Given the description of an element on the screen output the (x, y) to click on. 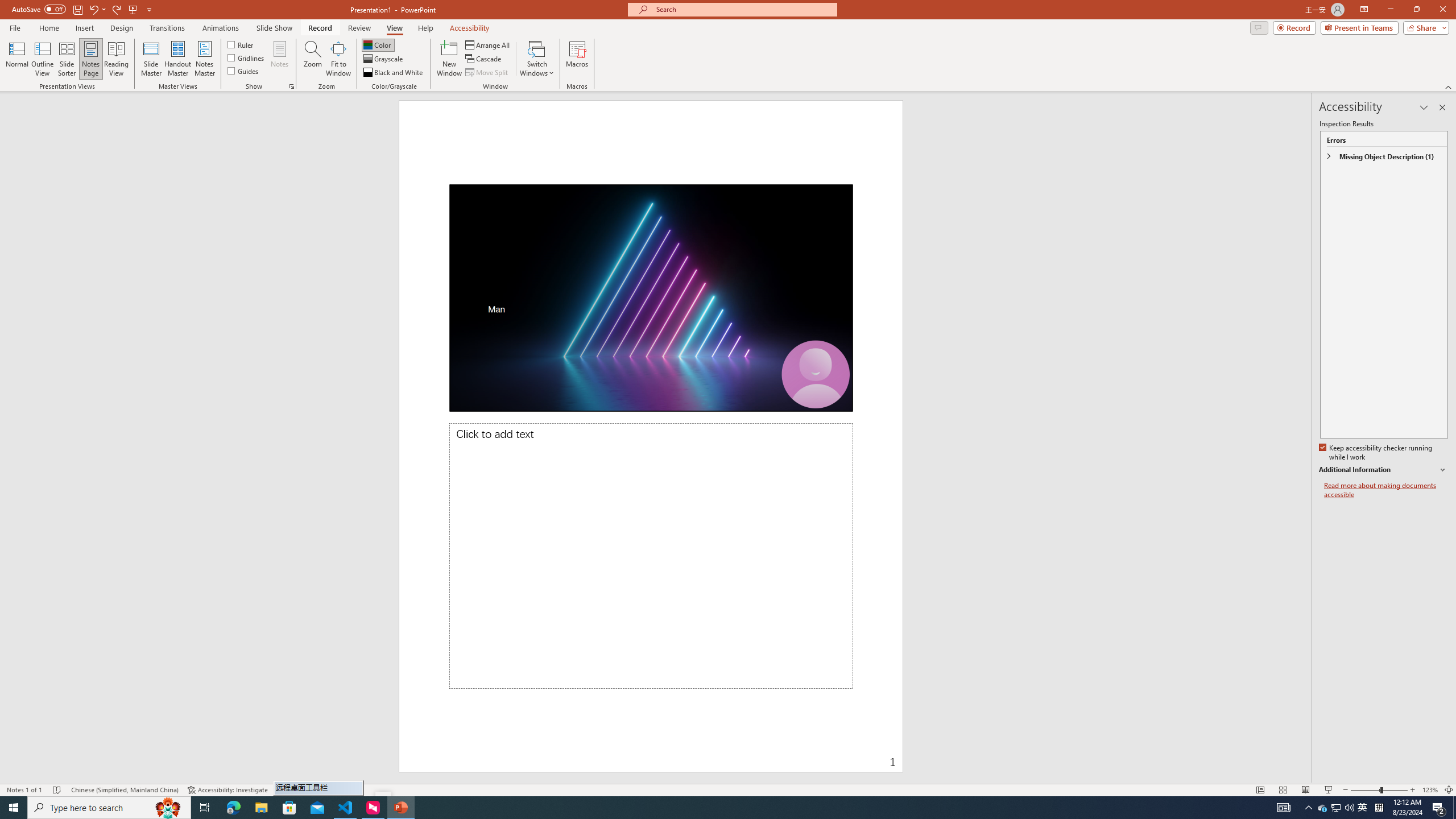
Ruler (241, 44)
Cascade (484, 58)
Arrange All (488, 44)
